Given the description of an element on the screen output the (x, y) to click on. 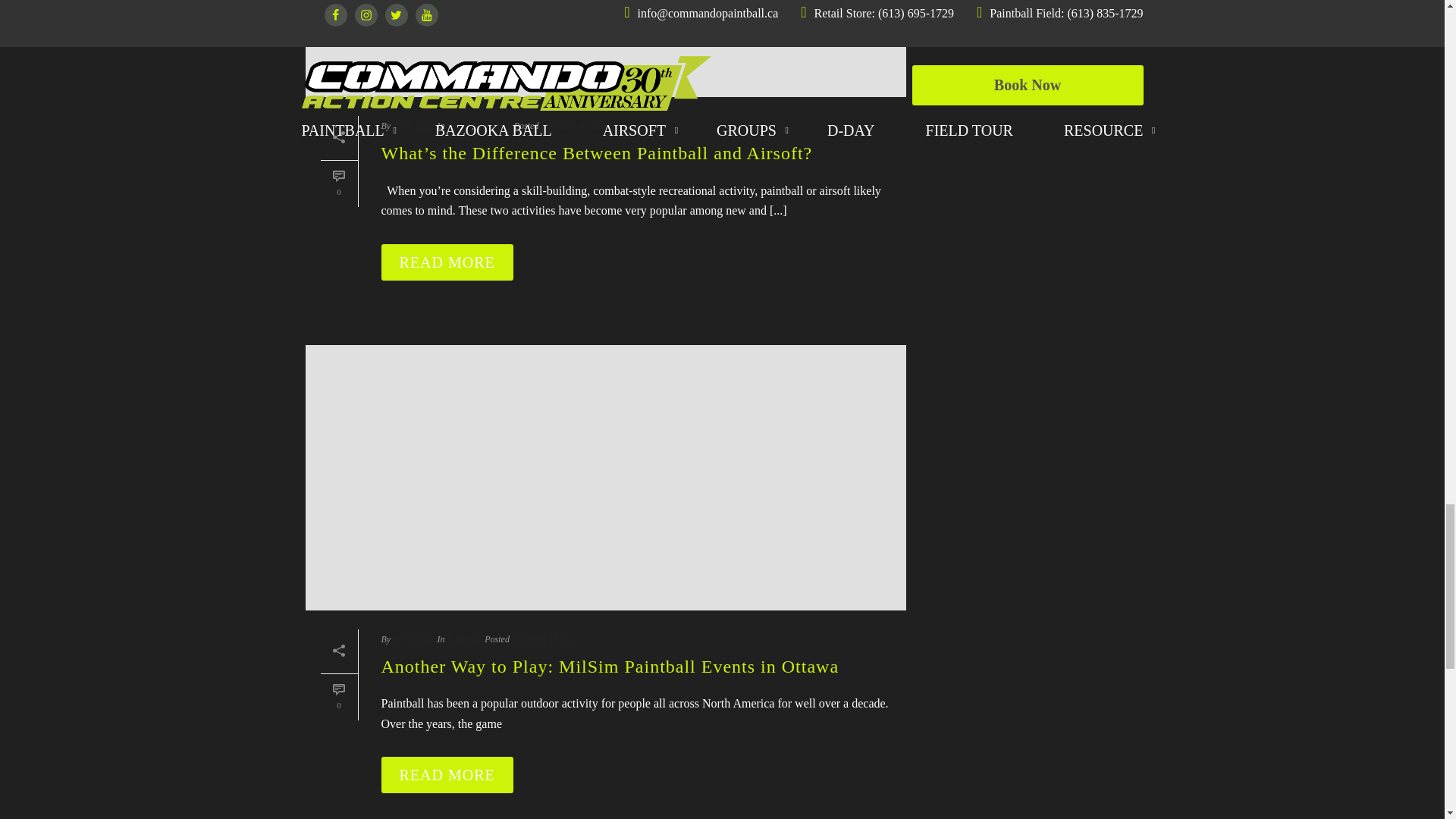
READ MORE (446, 238)
READ MORE (446, 751)
The Best Paintball Alternatives for Kids (604, 36)
